Given the description of an element on the screen output the (x, y) to click on. 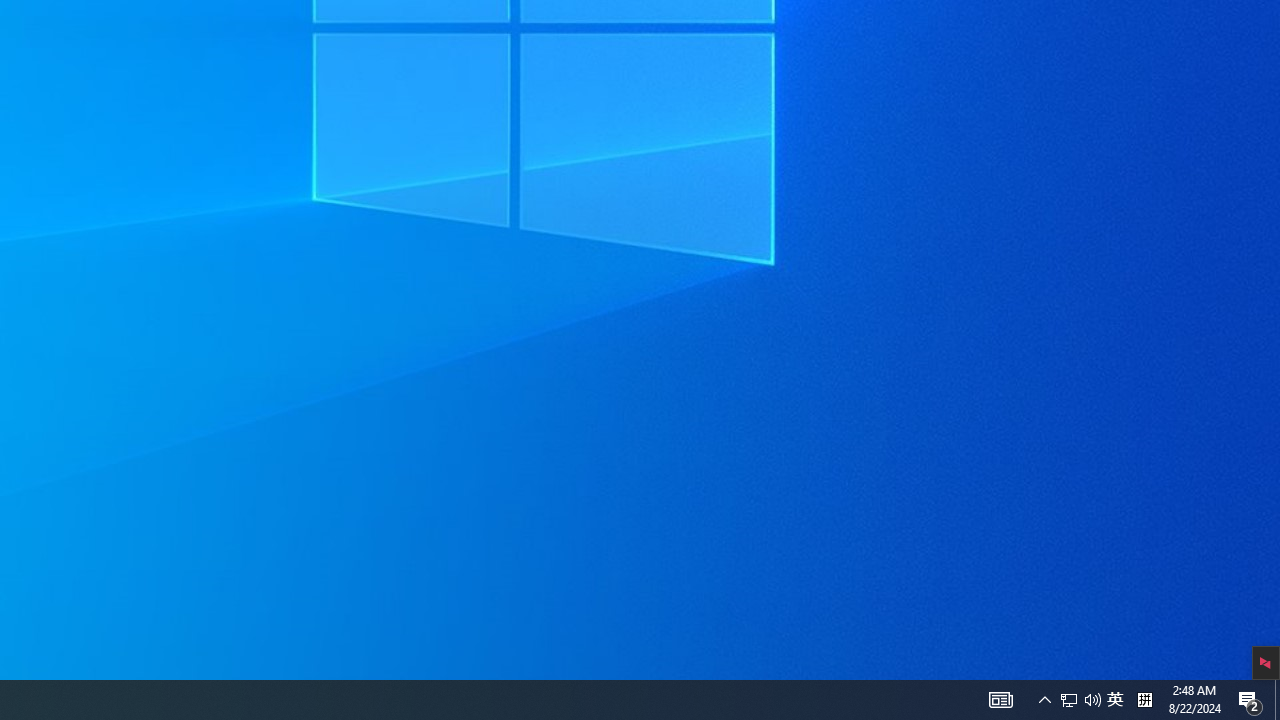
Notification Chevron (1115, 699)
Show desktop (1044, 699)
User Promoted Notification Area (1277, 699)
Action Center, 2 new notifications (1080, 699)
AutomationID: 4105 (1069, 699)
Tray Input Indicator - Chinese (Simplified, China) (1250, 699)
Q2790: 100% (1000, 699)
